Given the description of an element on the screen output the (x, y) to click on. 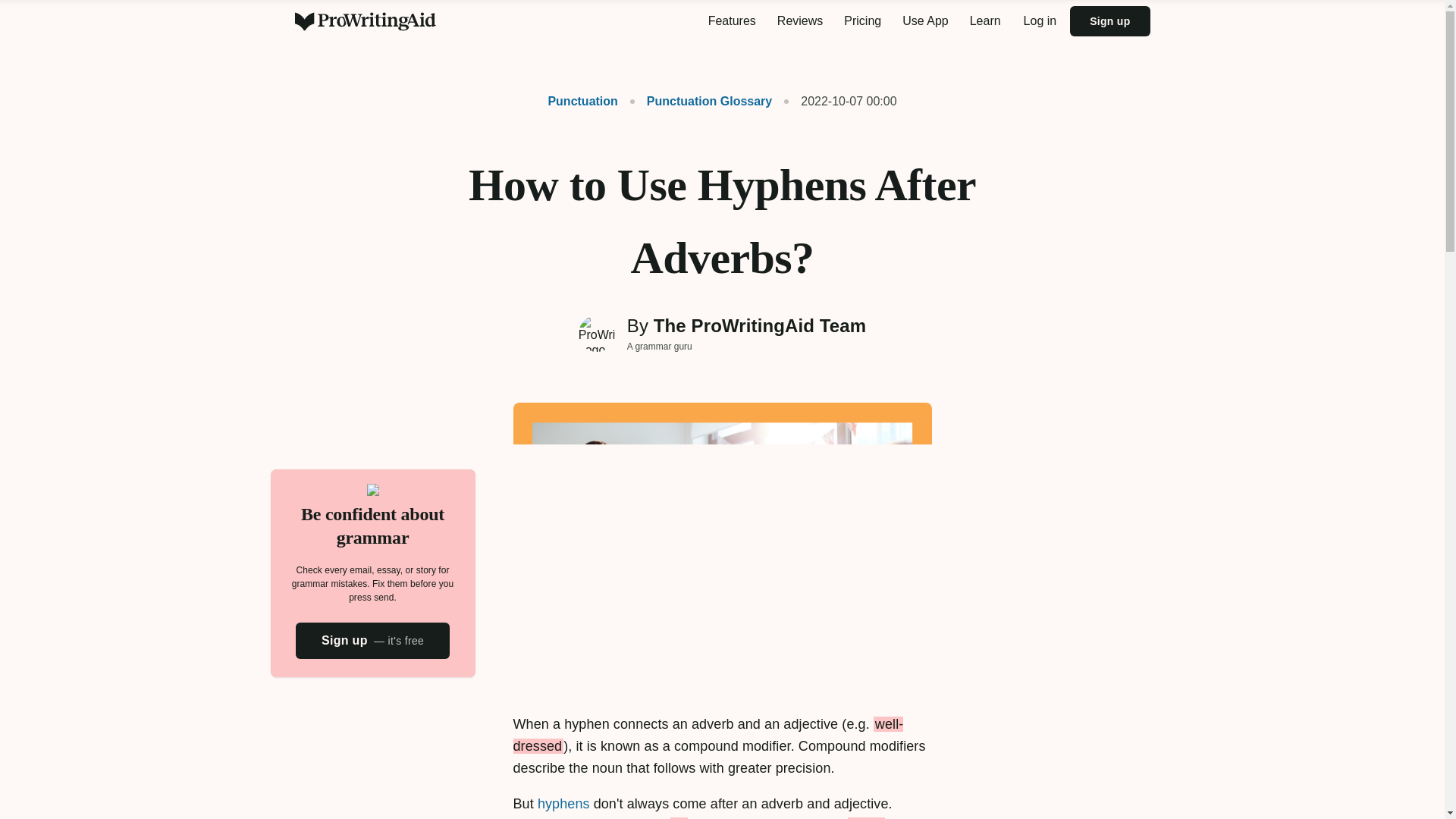
Log in (1039, 21)
Pricing (861, 21)
Sign up (1110, 20)
Punctuation Glossary (700, 101)
hyphens (563, 803)
Features (731, 21)
Learn (985, 21)
Reviews (799, 21)
Punctuation (582, 101)
Use App (924, 21)
